Given the description of an element on the screen output the (x, y) to click on. 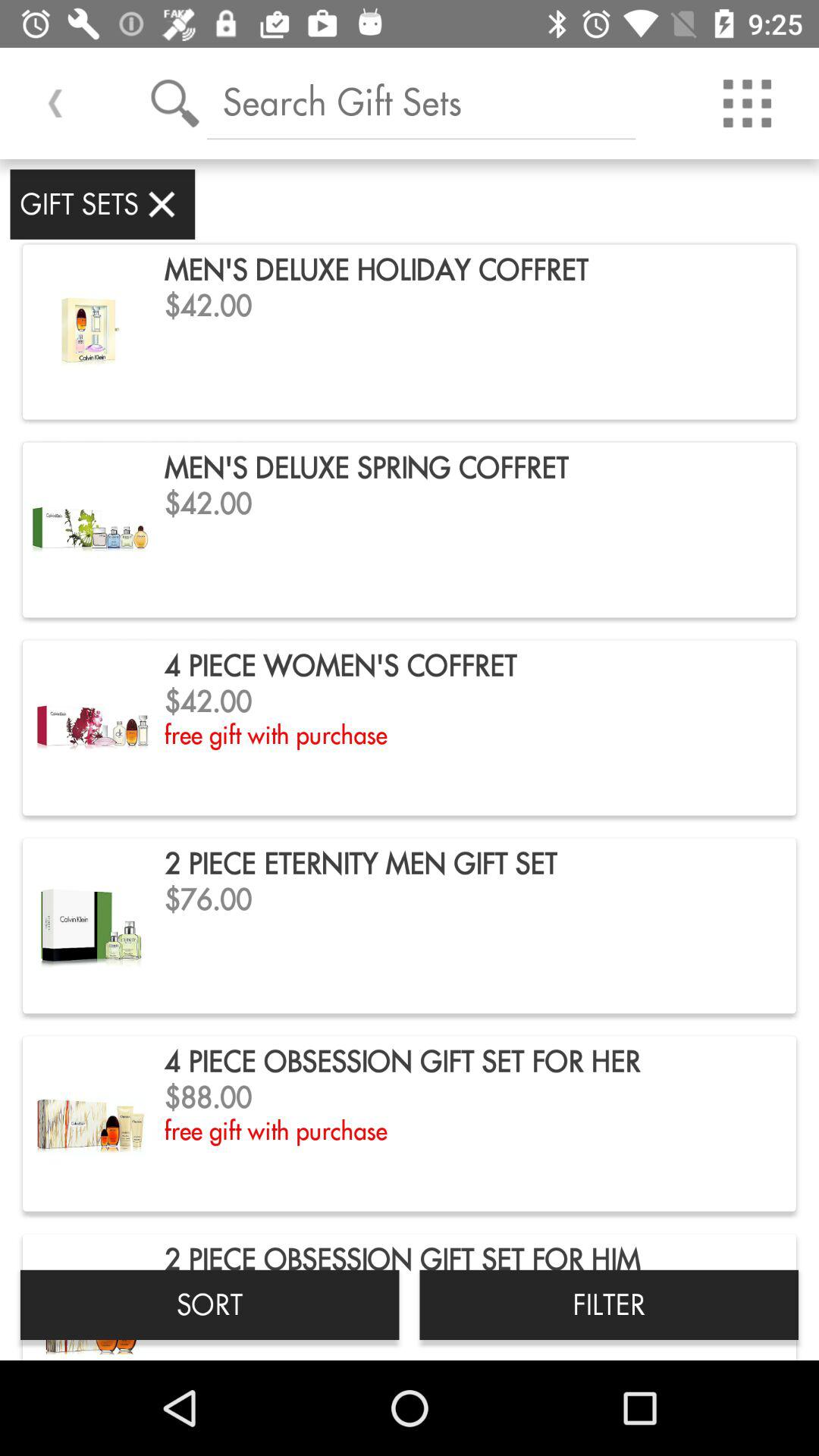
launch item next to filter item (209, 1304)
